Given the description of an element on the screen output the (x, y) to click on. 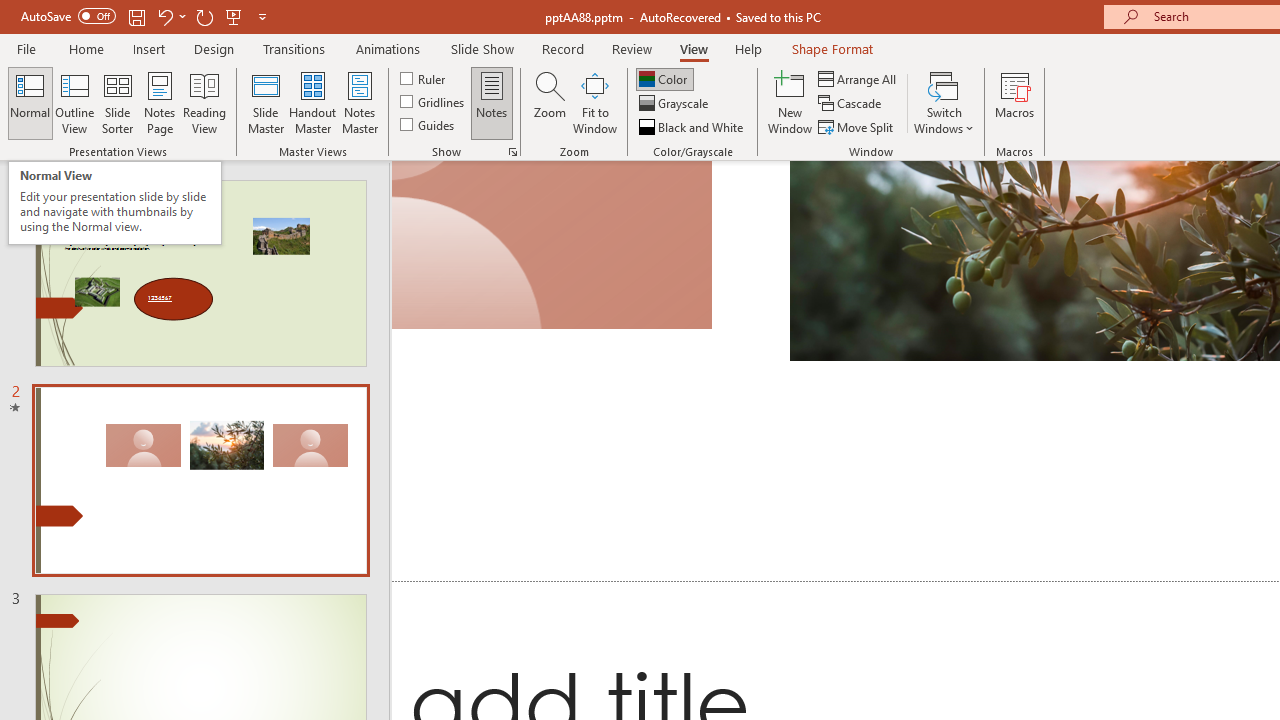
Ruler (423, 78)
Guides (428, 124)
Arrange All (858, 78)
Cascade (851, 103)
Gridlines (433, 101)
Move Split (857, 126)
